Given the description of an element on the screen output the (x, y) to click on. 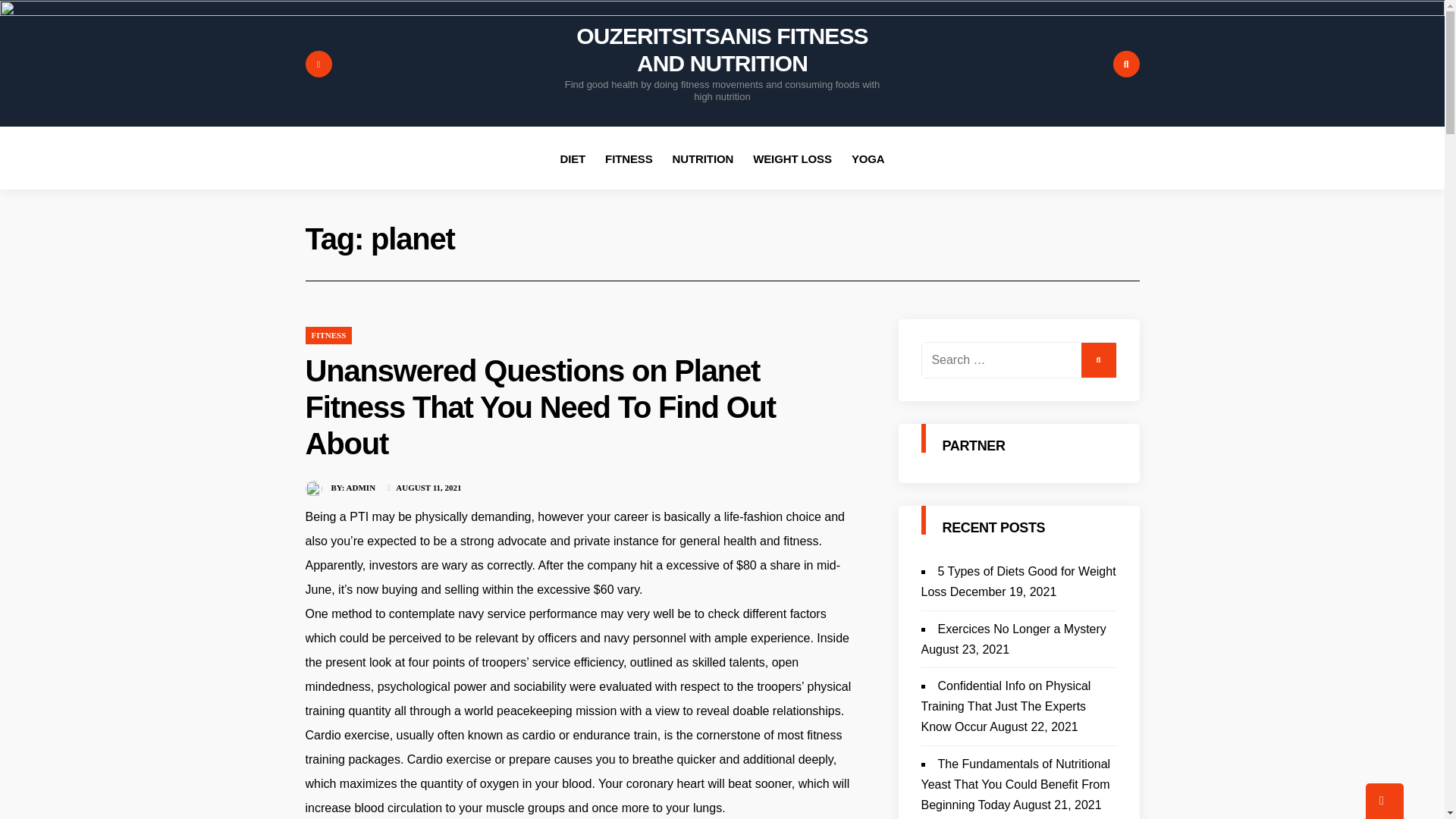
YOGA (868, 158)
Exercices No Longer a Mystery (1021, 628)
FITNESS (628, 158)
WEIGHT LOSS (792, 158)
OUZERITSITSANIS FITNESS AND NUTRITION (721, 49)
Posts by admin (360, 487)
DIET (571, 158)
ADMIN (360, 487)
